Given the description of an element on the screen output the (x, y) to click on. 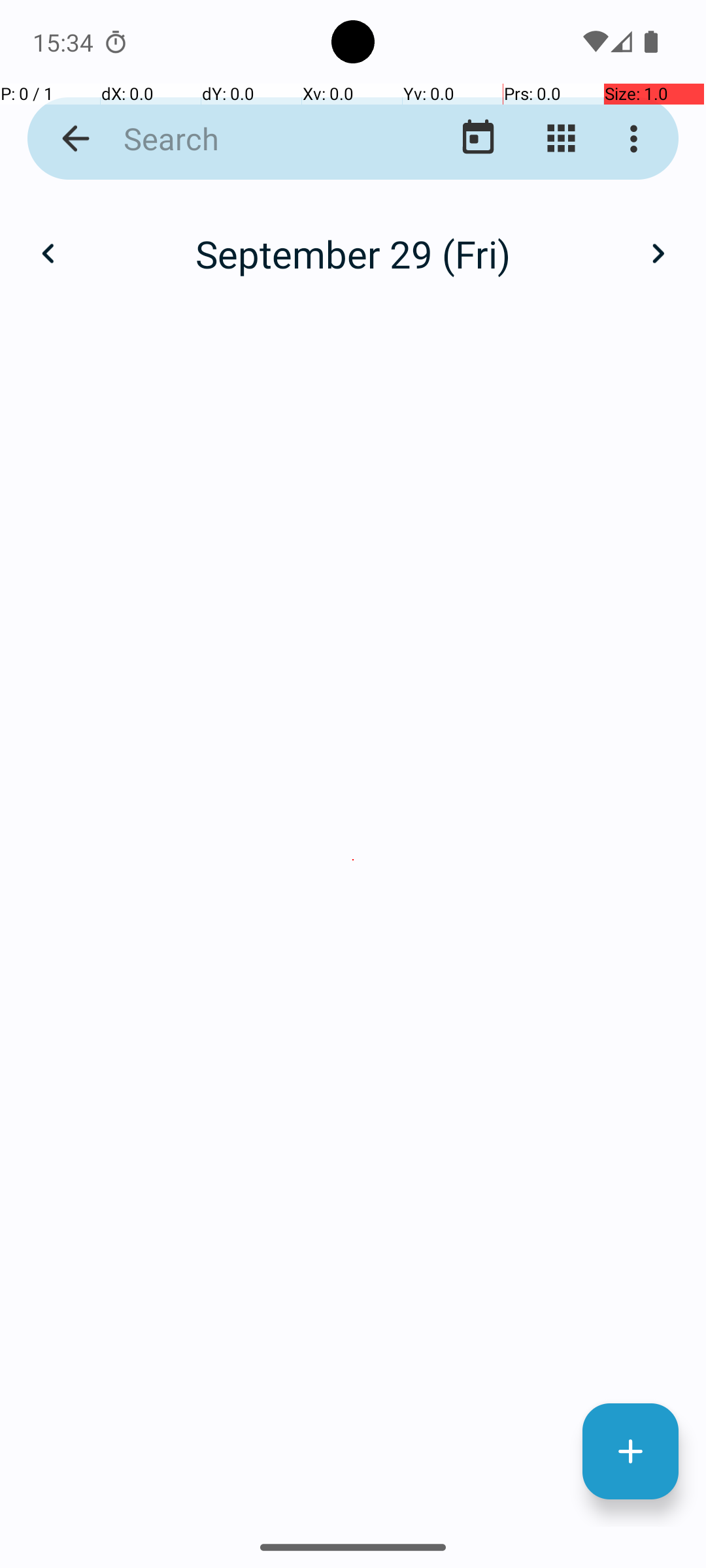
September 29 (Fri) Element type: android.widget.TextView (352, 253)
